Given the description of an element on the screen output the (x, y) to click on. 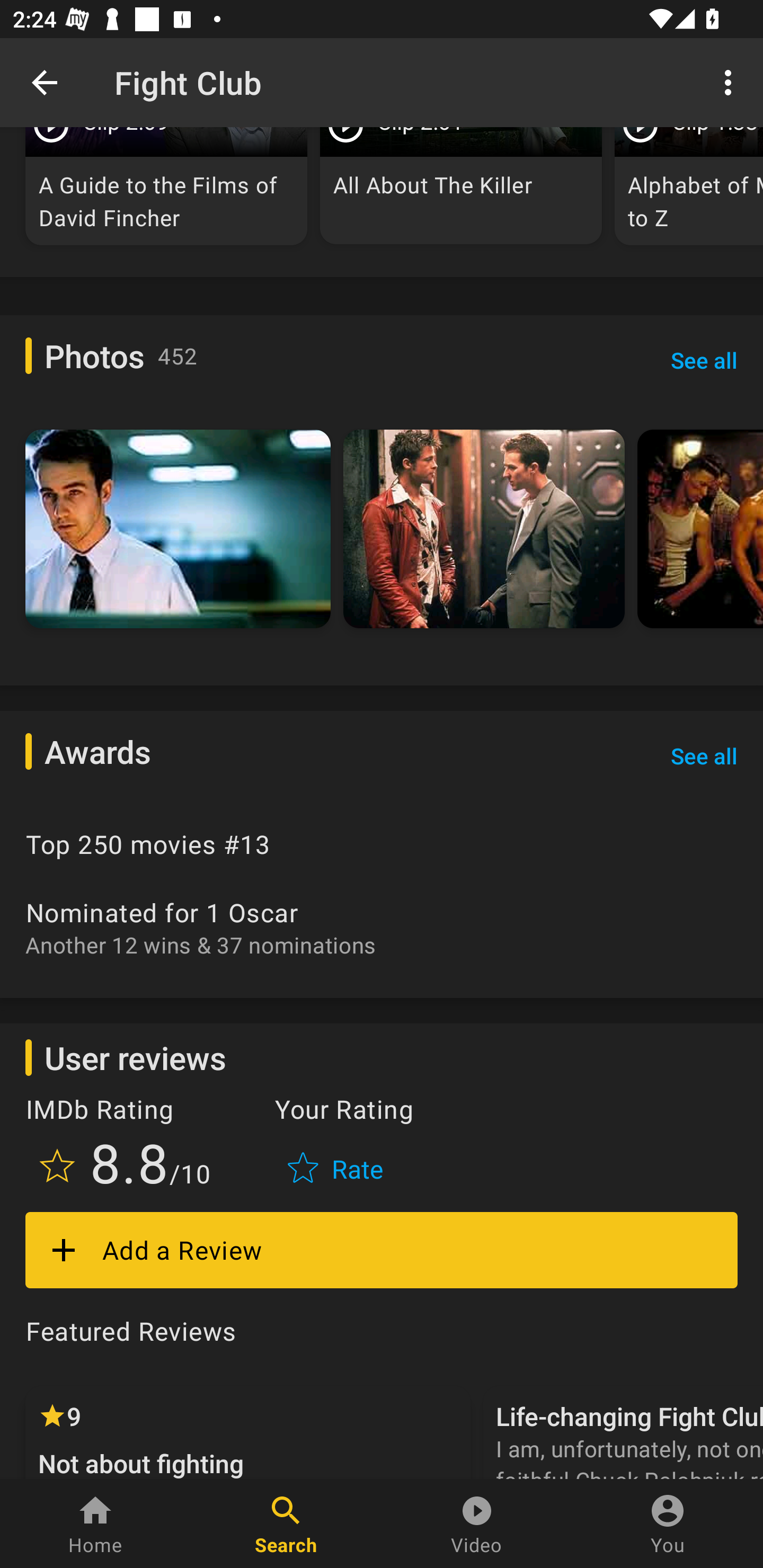
More options (731, 81)
See all See all Photos (703, 359)
See all See all Awards (703, 755)
Top 250 movies #13 (381, 843)
Your Rating Rate (337, 1145)
Add a Review (381, 1250)
9 Not about fighting (247, 1432)
Home (95, 1523)
Video (476, 1523)
You (667, 1523)
